Given the description of an element on the screen output the (x, y) to click on. 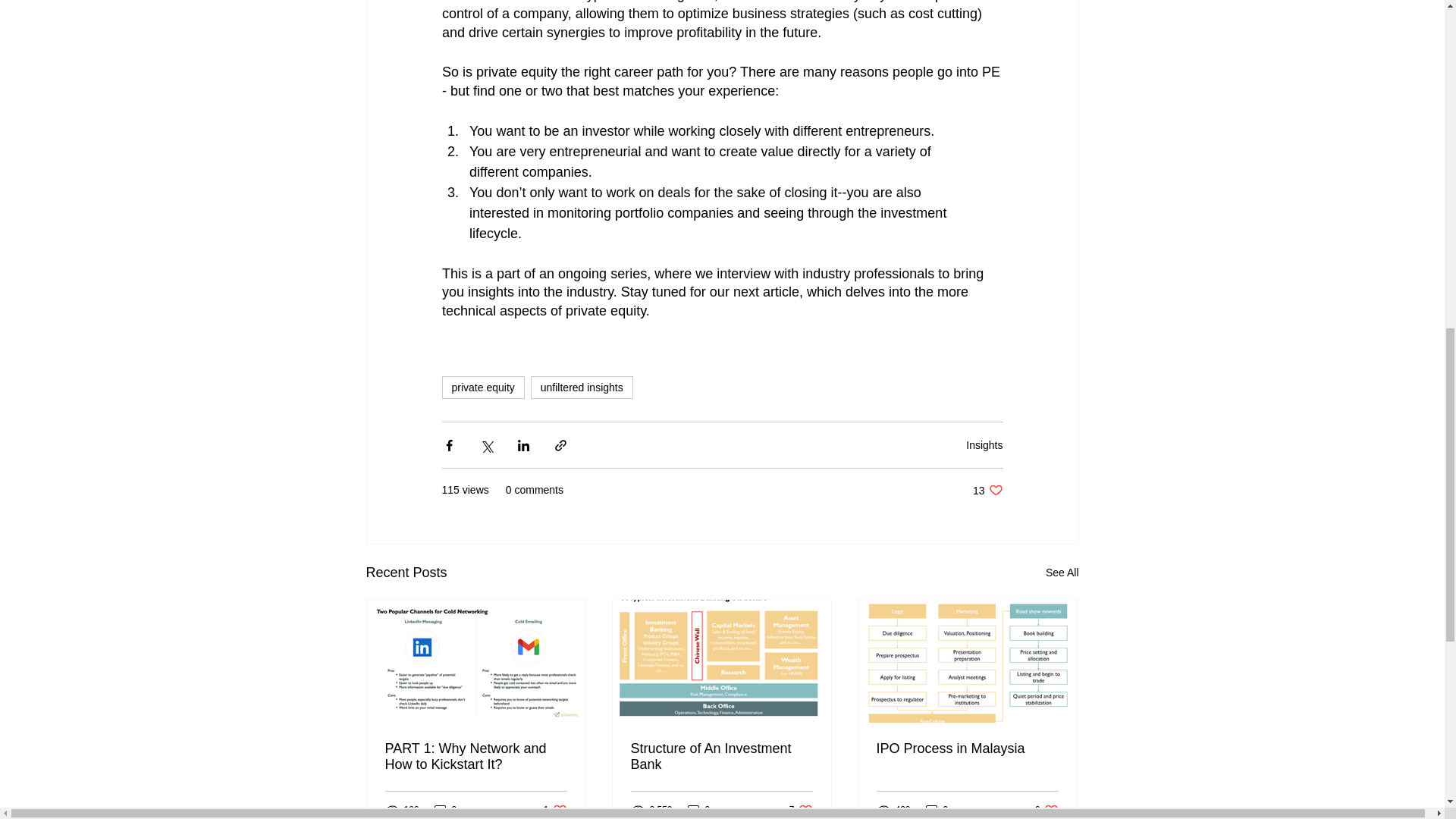
Structure of An Investment Bank (721, 757)
Insights (1046, 810)
0 (984, 444)
0 (445, 810)
private equity (800, 810)
See All (698, 810)
0 (987, 490)
